Given the description of an element on the screen output the (x, y) to click on. 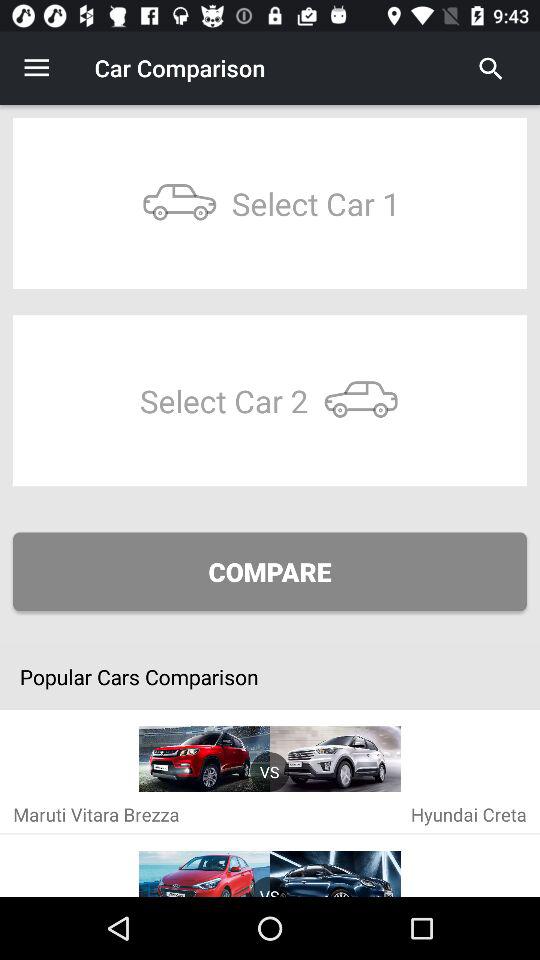
click the icon at the top right corner (491, 68)
